Given the description of an element on the screen output the (x, y) to click on. 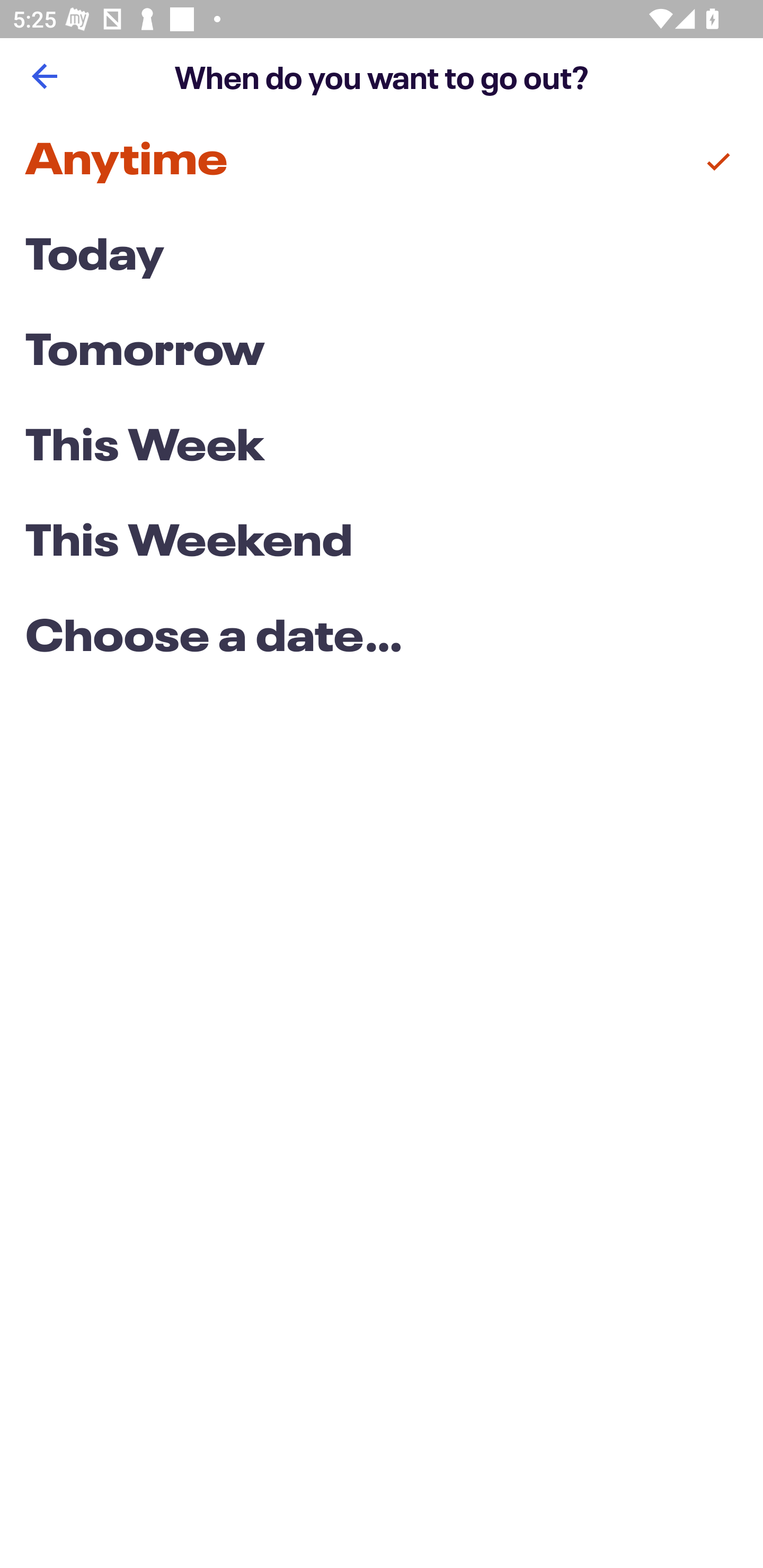
Back button (44, 75)
Anytime (381, 161)
Today (381, 257)
Tomorrow (381, 352)
This Week (381, 447)
This Weekend (381, 542)
Choose a date… (381, 638)
